Given the description of an element on the screen output the (x, y) to click on. 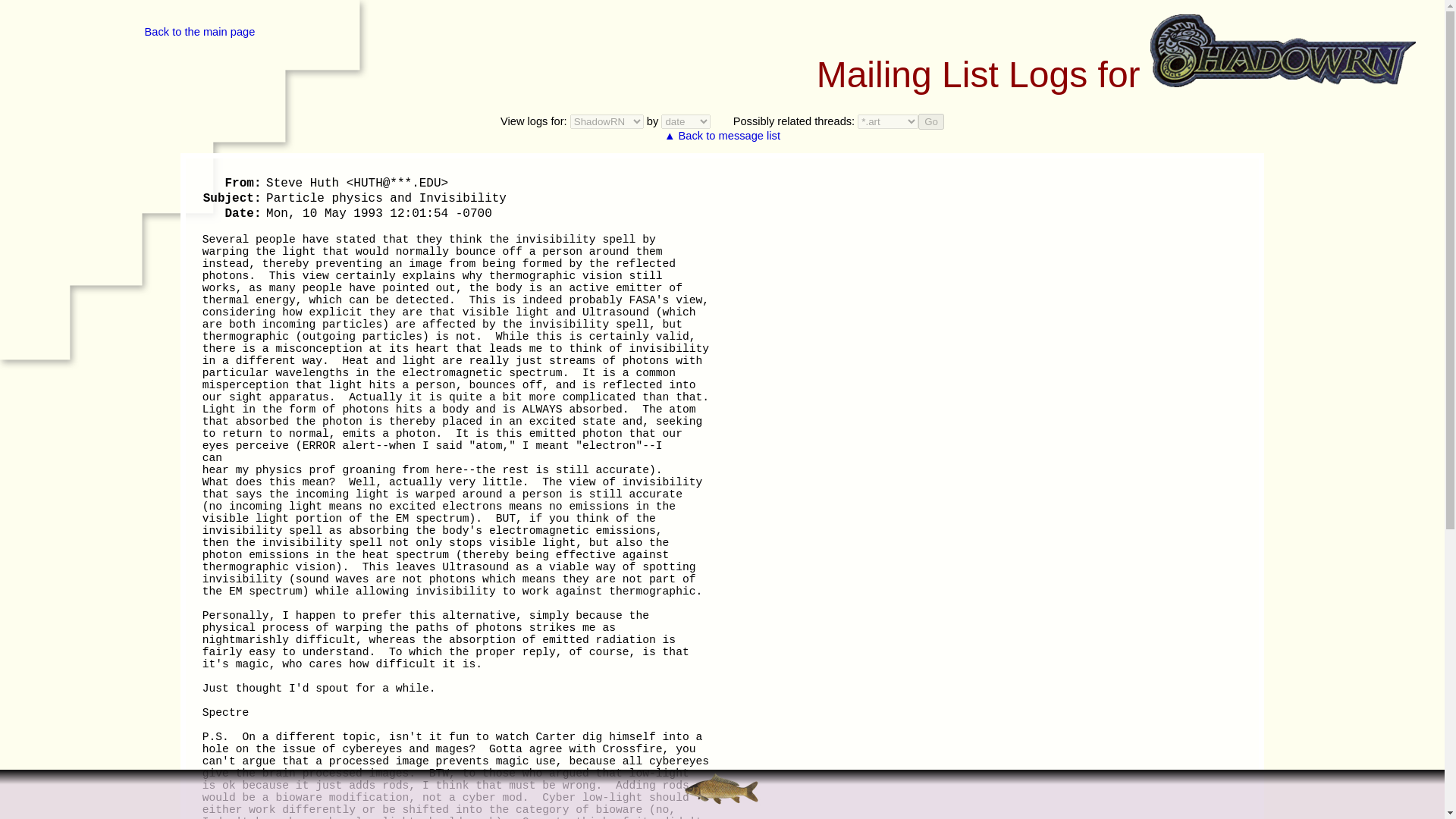
Back to the main page (199, 31)
Thwap! (722, 789)
Go (930, 121)
